Given the description of an element on the screen output the (x, y) to click on. 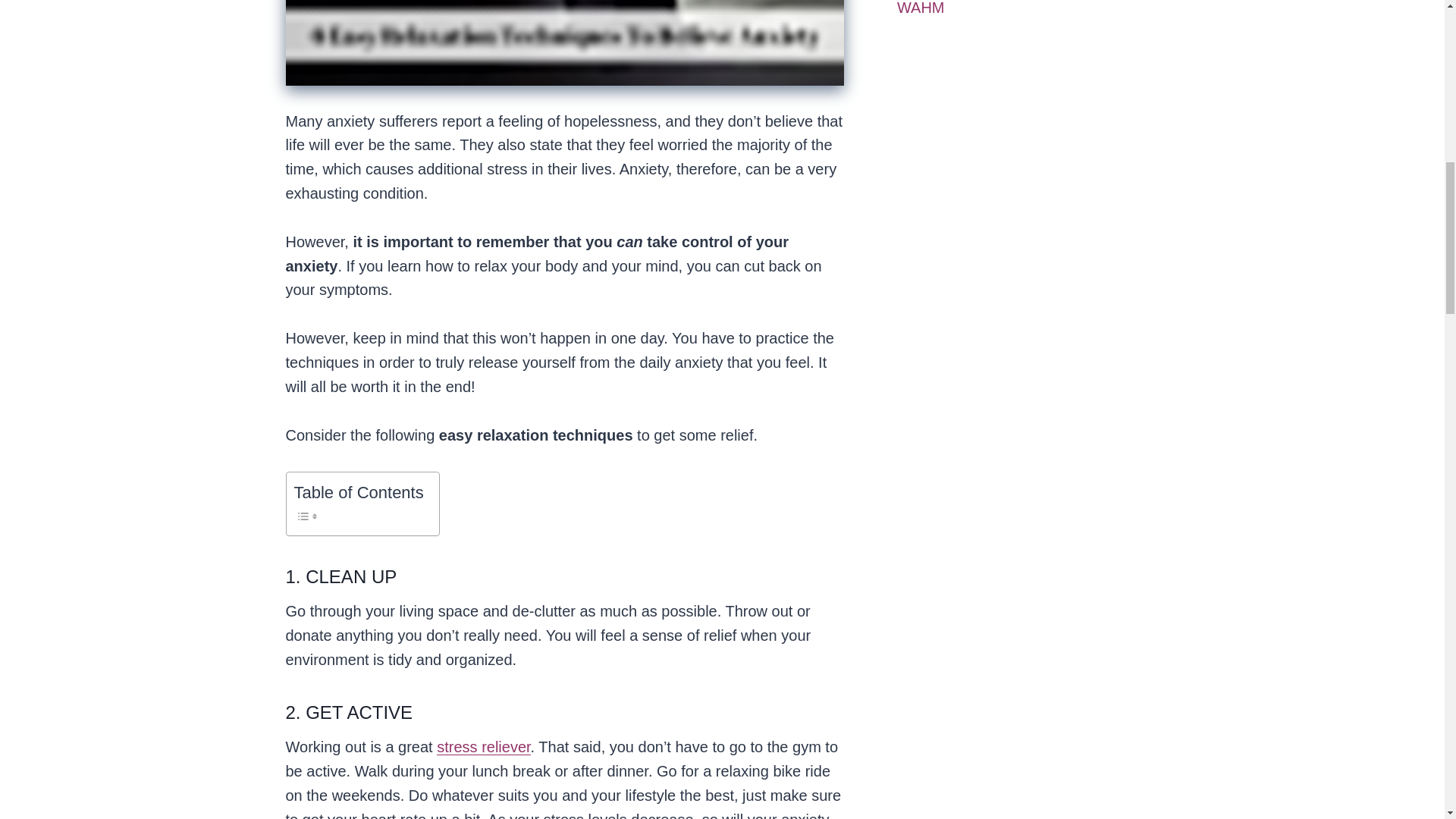
stress reliever (482, 746)
